Given the description of an element on the screen output the (x, y) to click on. 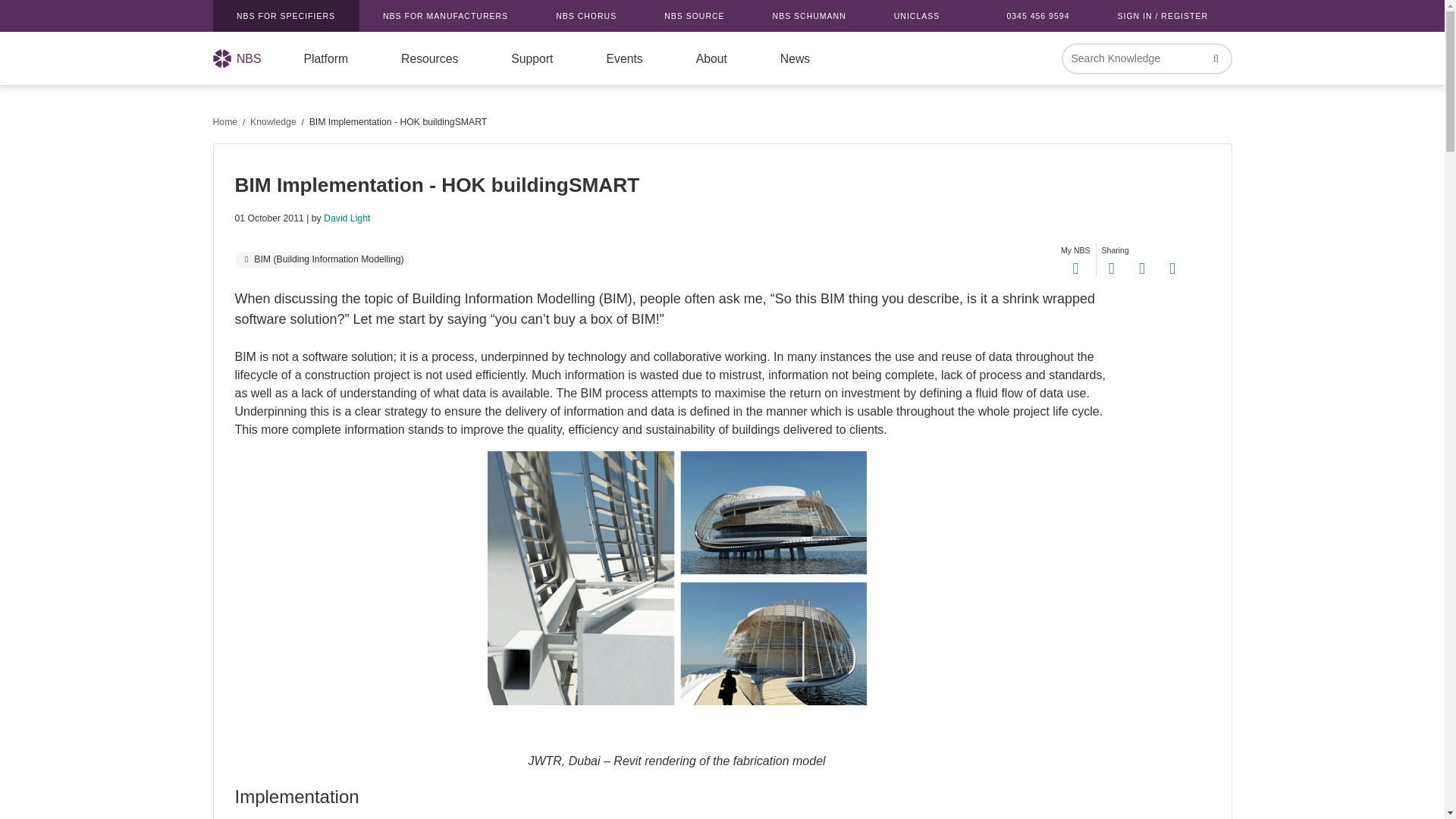
Events (623, 58)
Access downloads and read articles from NBS (429, 58)
NBS FOR MANUFACTURERS (445, 15)
0345 456 9594 (1037, 15)
NBS SOURCE (694, 15)
Find out about our events and webinars (623, 58)
Find out more about the NBS platform (325, 58)
About (711, 58)
NBS CHORUS (586, 15)
UNICLASS (916, 15)
Call us on: 0345 456 9594 (1037, 15)
NBS SCHUMANN (808, 15)
Go to the main NBS website (285, 15)
Get support and training for NBS products (531, 58)
Resources (429, 58)
